Given the description of an element on the screen output the (x, y) to click on. 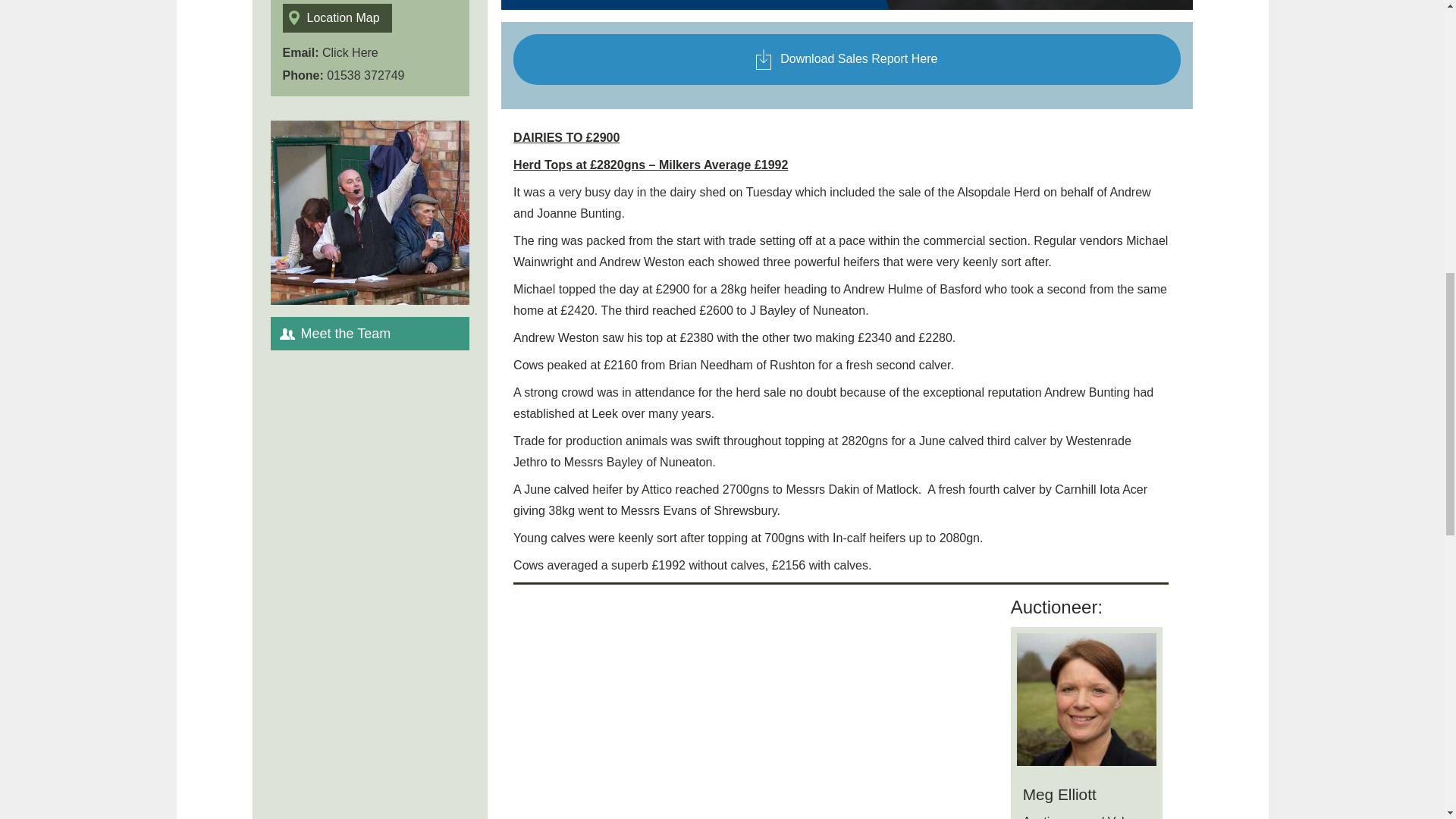
Download Sales Report Here (846, 59)
Location Map (336, 18)
01538 372749 (365, 74)
Meet the Team (368, 333)
Click Here (349, 51)
